Given the description of an element on the screen output the (x, y) to click on. 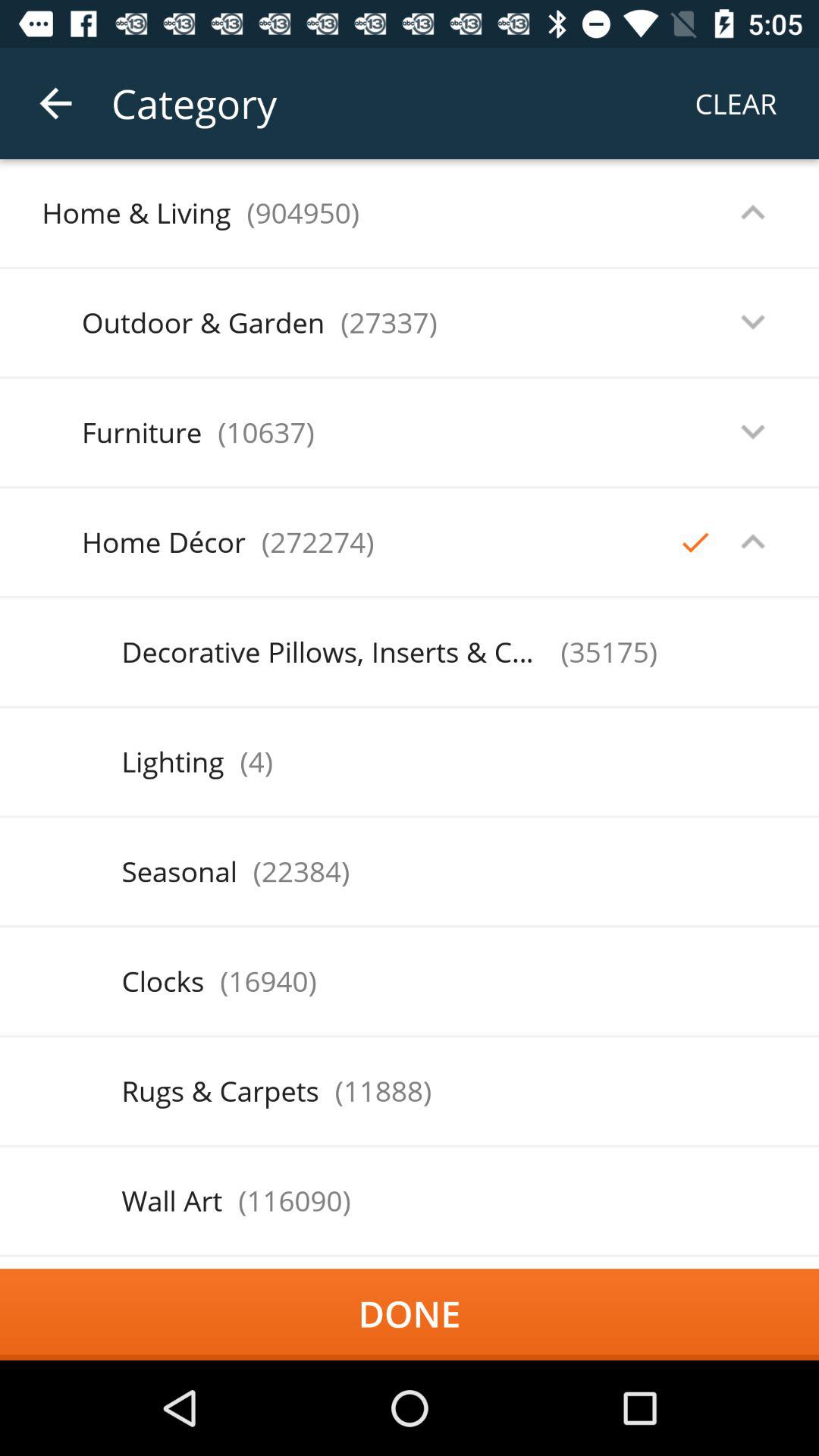
tap item next to category (55, 103)
